Given the description of an element on the screen output the (x, y) to click on. 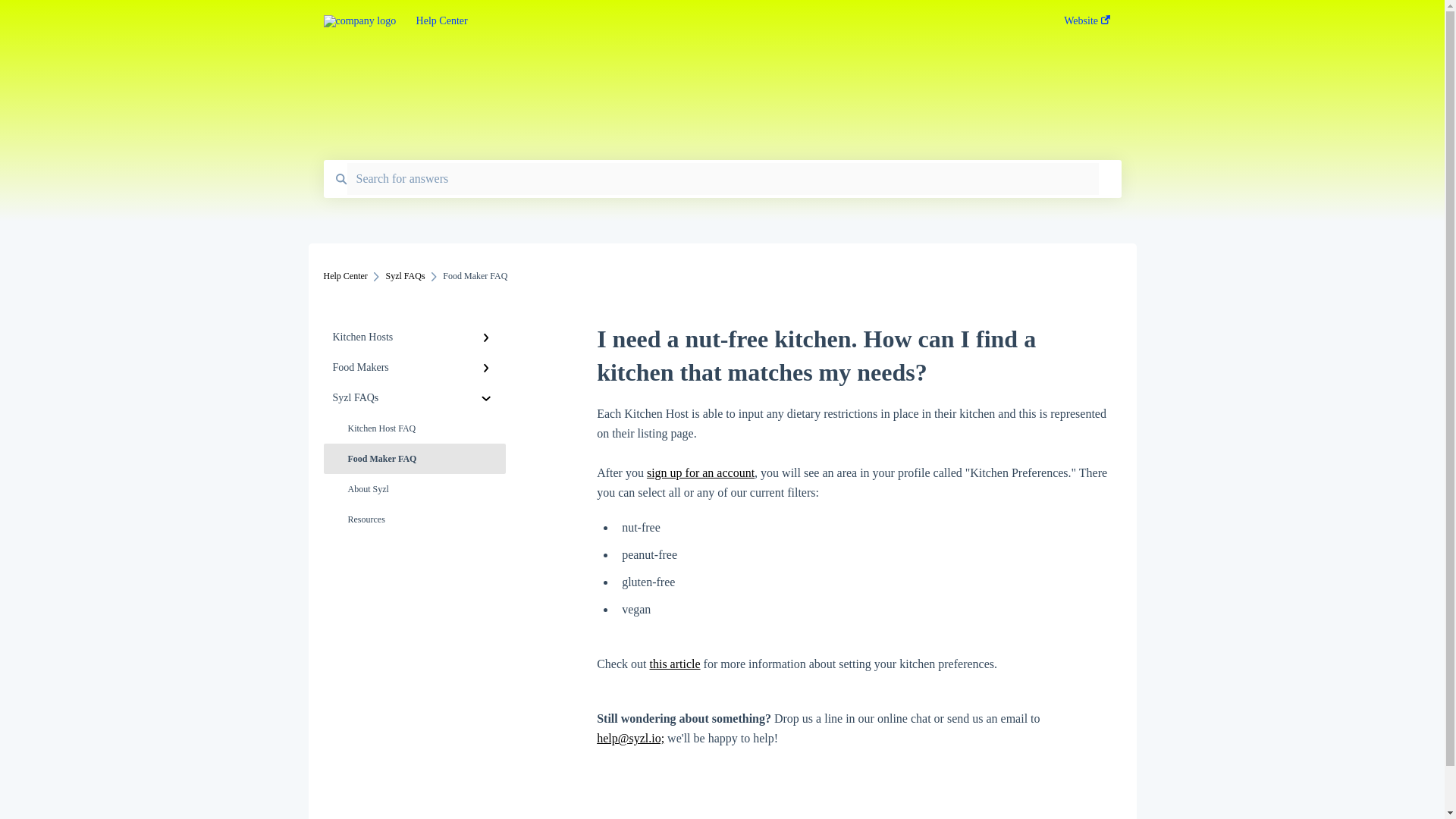
Syzl FAQs (414, 398)
Food Makers (414, 367)
Kitchen Hosts (414, 337)
Website (1086, 25)
Syzl FAQs (405, 276)
Help Center (344, 276)
Kitchen Host FAQ (414, 428)
Help Center (717, 21)
